Given the description of an element on the screen output the (x, y) to click on. 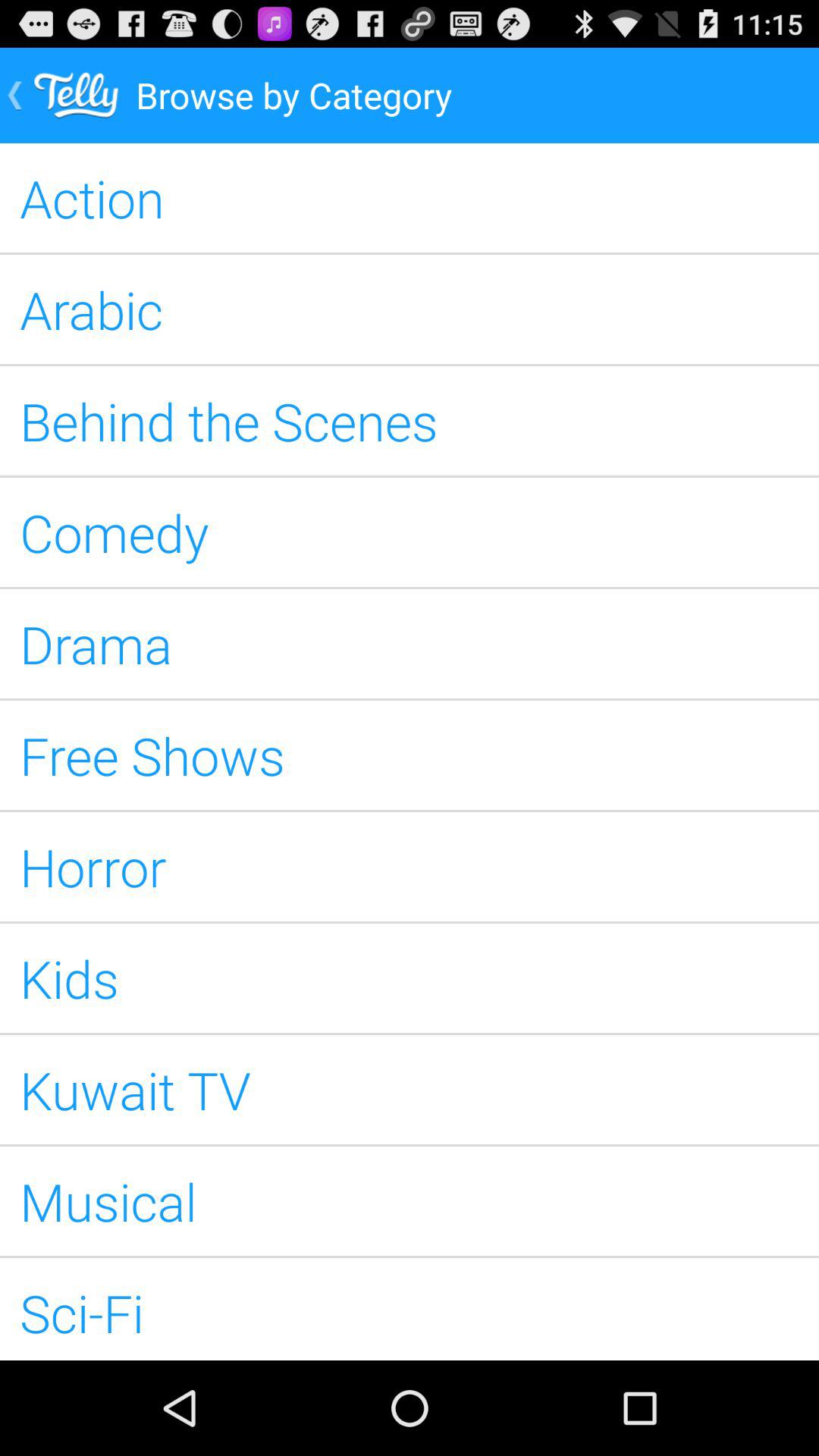
select the app above sci-fi icon (409, 1200)
